Given the description of an element on the screen output the (x, y) to click on. 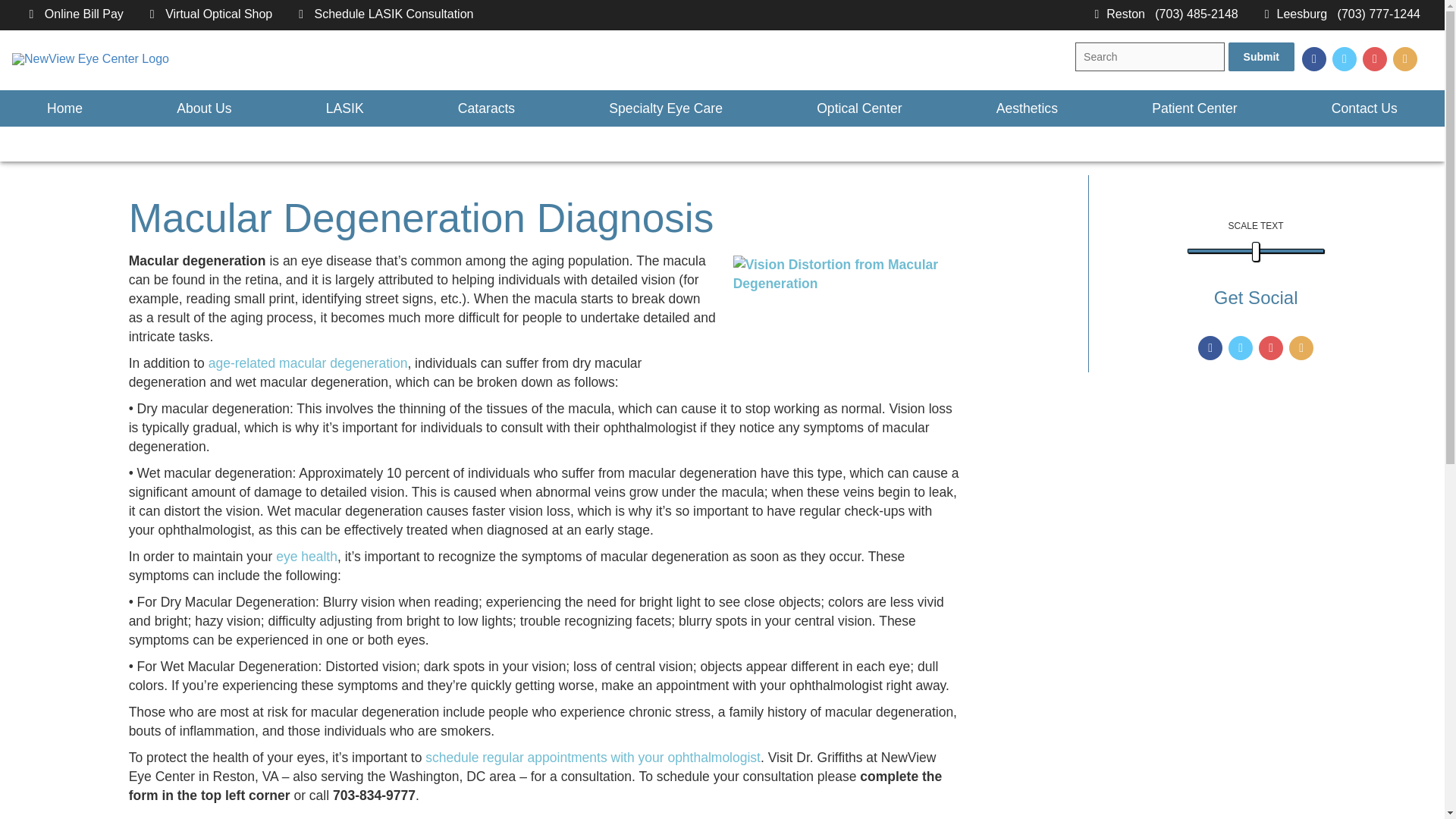
Cataracts (486, 108)
Submit (1261, 56)
Age-Related Macular Degeneration  (307, 363)
About Us (203, 108)
Contact Us for an Appointment with Dr. Griffiths (592, 757)
3 (1255, 250)
Home (64, 108)
Eye Health at New View Eye Center (306, 556)
Online Bill Pay (73, 13)
Virtual Optical Shop (208, 13)
LASIK (345, 108)
Specialty Eye Care (665, 108)
Schedule LASIK Consultation (384, 13)
